Given the description of an element on the screen output the (x, y) to click on. 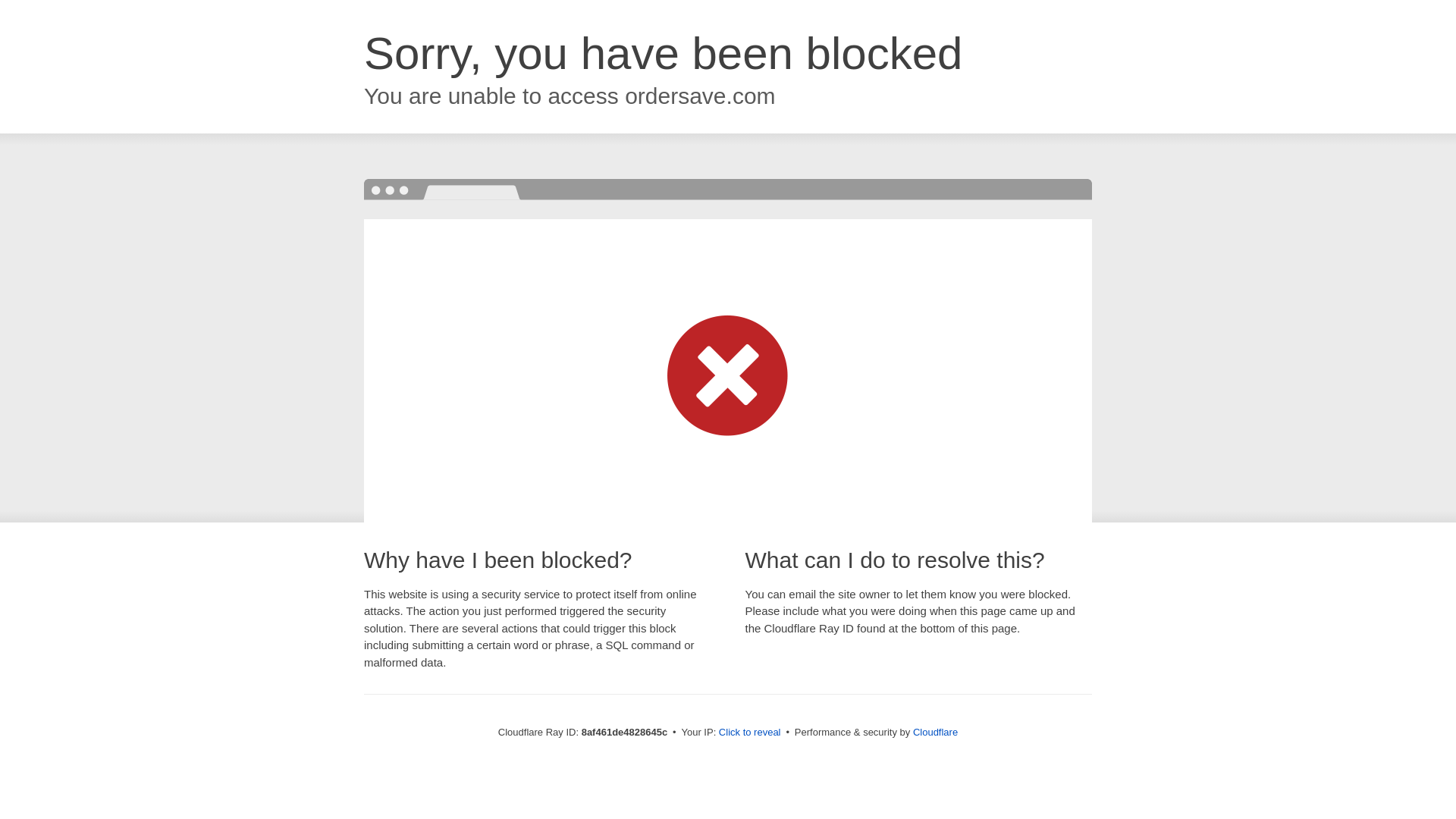
Cloudflare (935, 731)
Click to reveal (749, 732)
